Given the description of an element on the screen output the (x, y) to click on. 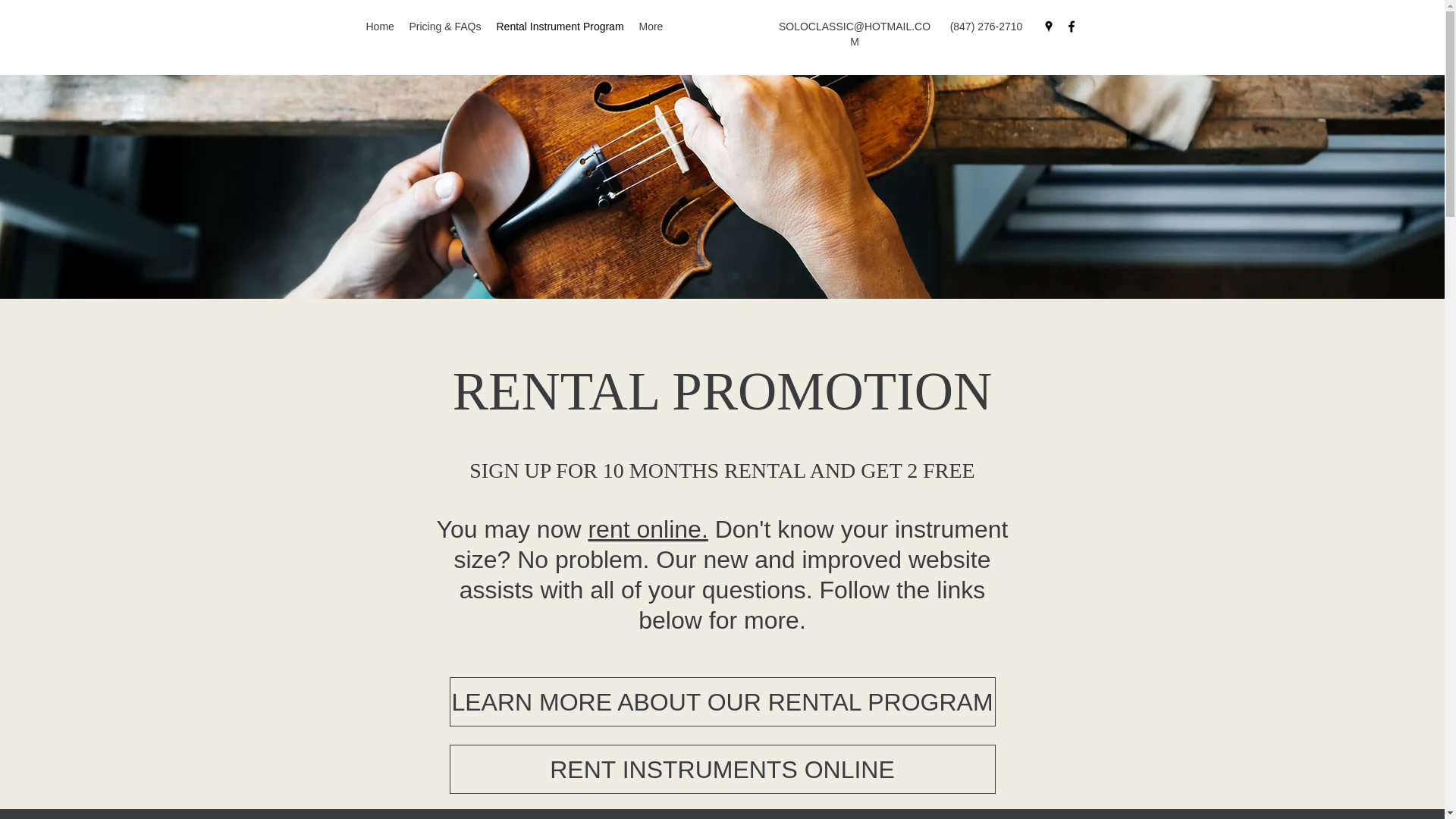
Home (379, 26)
Rental Instrument Program (558, 26)
LEARN MORE ABOUT OUR RENTAL PROGRAM (721, 701)
RENT INSTRUMENTS ONLINE (721, 768)
